Given the description of an element on the screen output the (x, y) to click on. 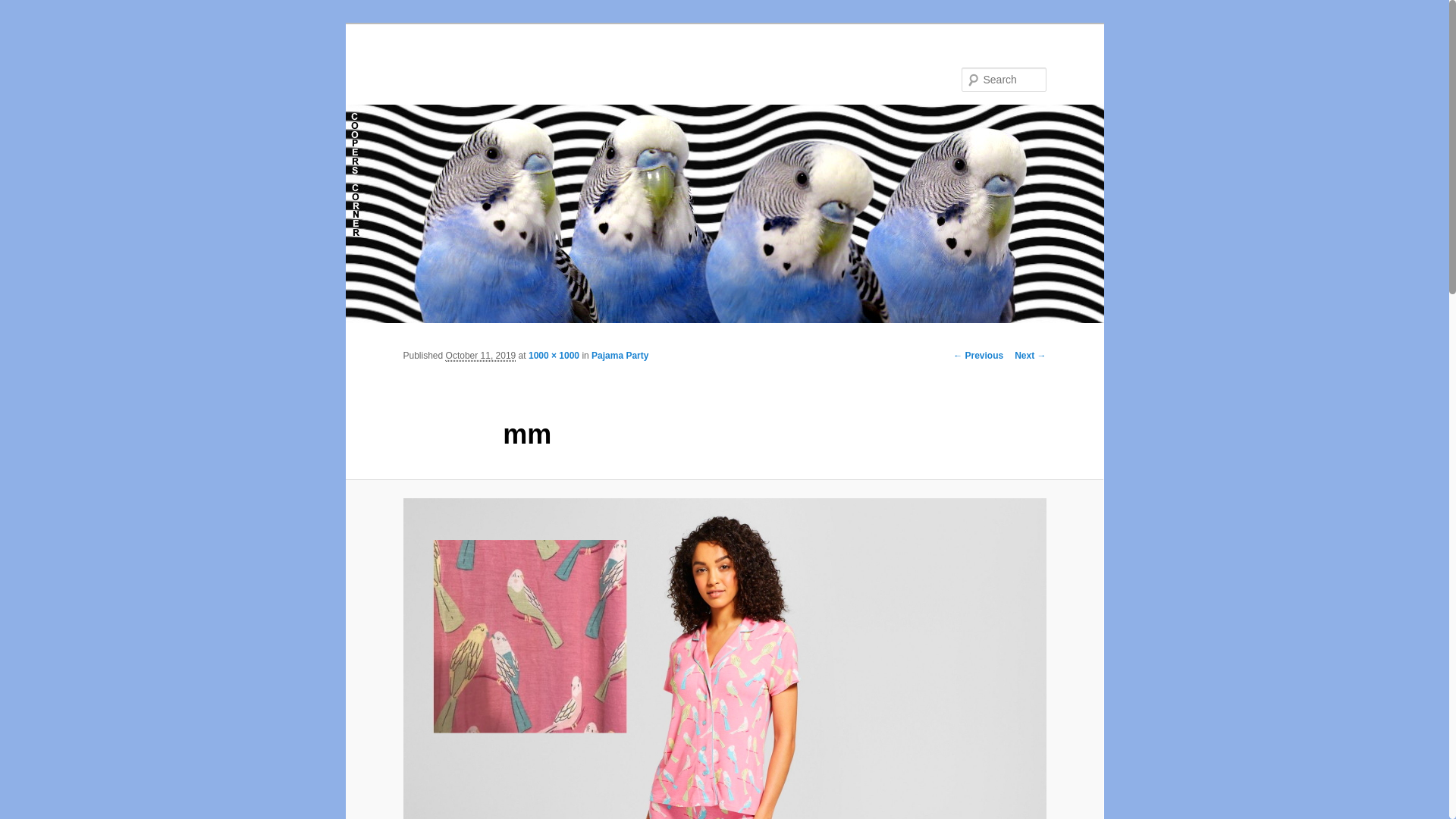
12:16 am (480, 355)
Link to full-size image (553, 355)
Search (24, 8)
Pajama Party (619, 355)
Go to Pajama Party (619, 355)
